Given the description of an element on the screen output the (x, y) to click on. 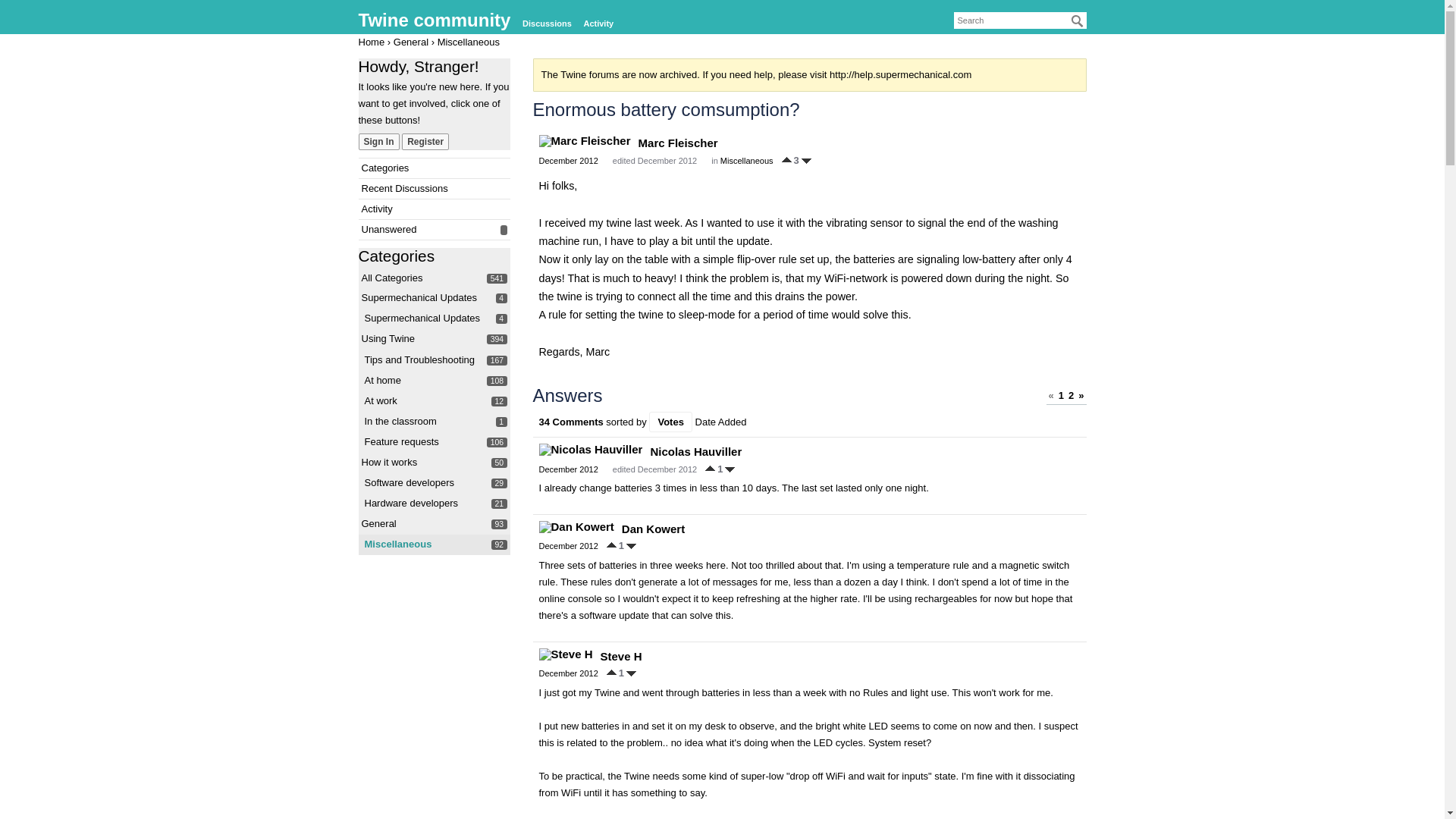
394 discussions (496, 338)
Activity (378, 523)
December 2012 (597, 23)
Categories (567, 160)
General (385, 167)
Marc Fleischer (410, 41)
December 13, 2012  1:50AM (584, 141)
Sign In (567, 469)
